Given the description of an element on the screen output the (x, y) to click on. 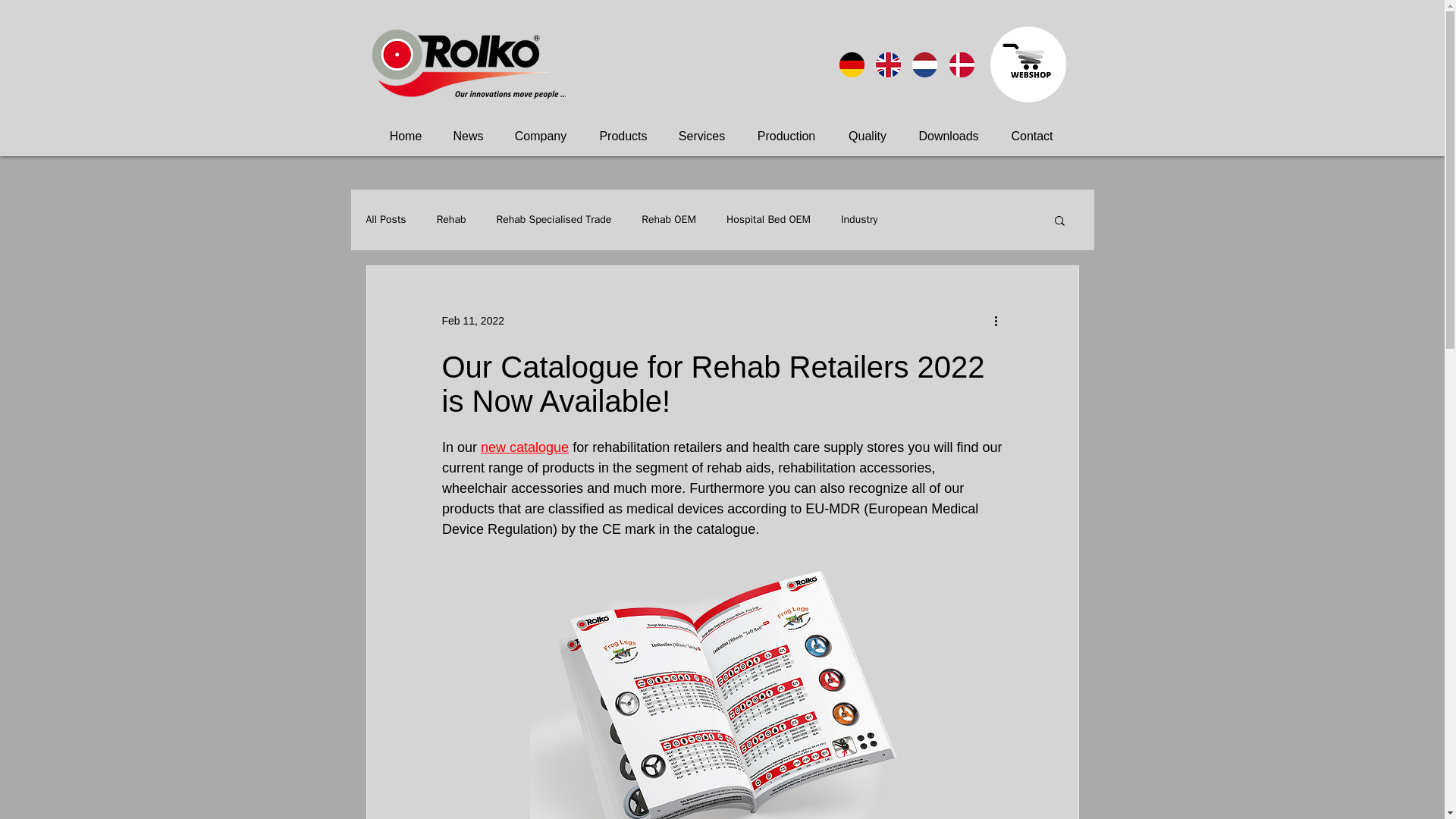
Rehab Specialised Trade (553, 219)
Taal: Nederlands (923, 64)
Rolko Logo (467, 63)
Hospital Bed OEM (768, 219)
Feb 11, 2022 (472, 319)
Zum Webbshop (1027, 64)
Rehab OEM (668, 219)
Language: English (887, 64)
All Posts (385, 219)
Sprache: DE (850, 64)
Industry (859, 219)
new catalogue (524, 447)
Sprog: Dansk (961, 64)
Rehab (450, 219)
